Given the description of an element on the screen output the (x, y) to click on. 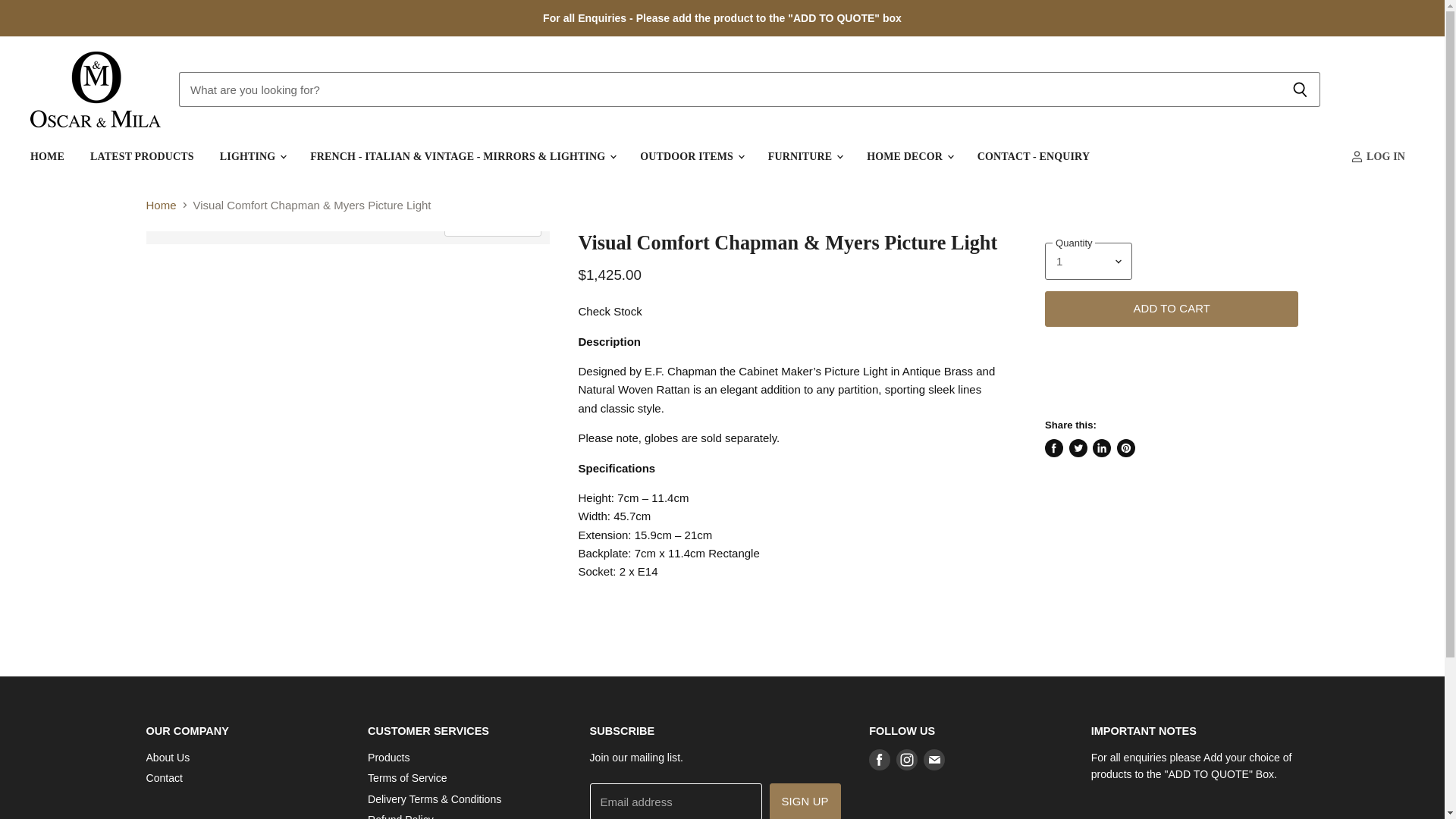
HOME DECOR (909, 155)
HOME (46, 155)
ACCOUNT ICON (1356, 155)
Instagram (906, 759)
LIGHTING (251, 155)
Facebook (879, 759)
FURNITURE (804, 155)
LATEST PRODUCTS (141, 155)
OUTDOOR ITEMS (690, 155)
E-mail (933, 759)
